Given the description of an element on the screen output the (x, y) to click on. 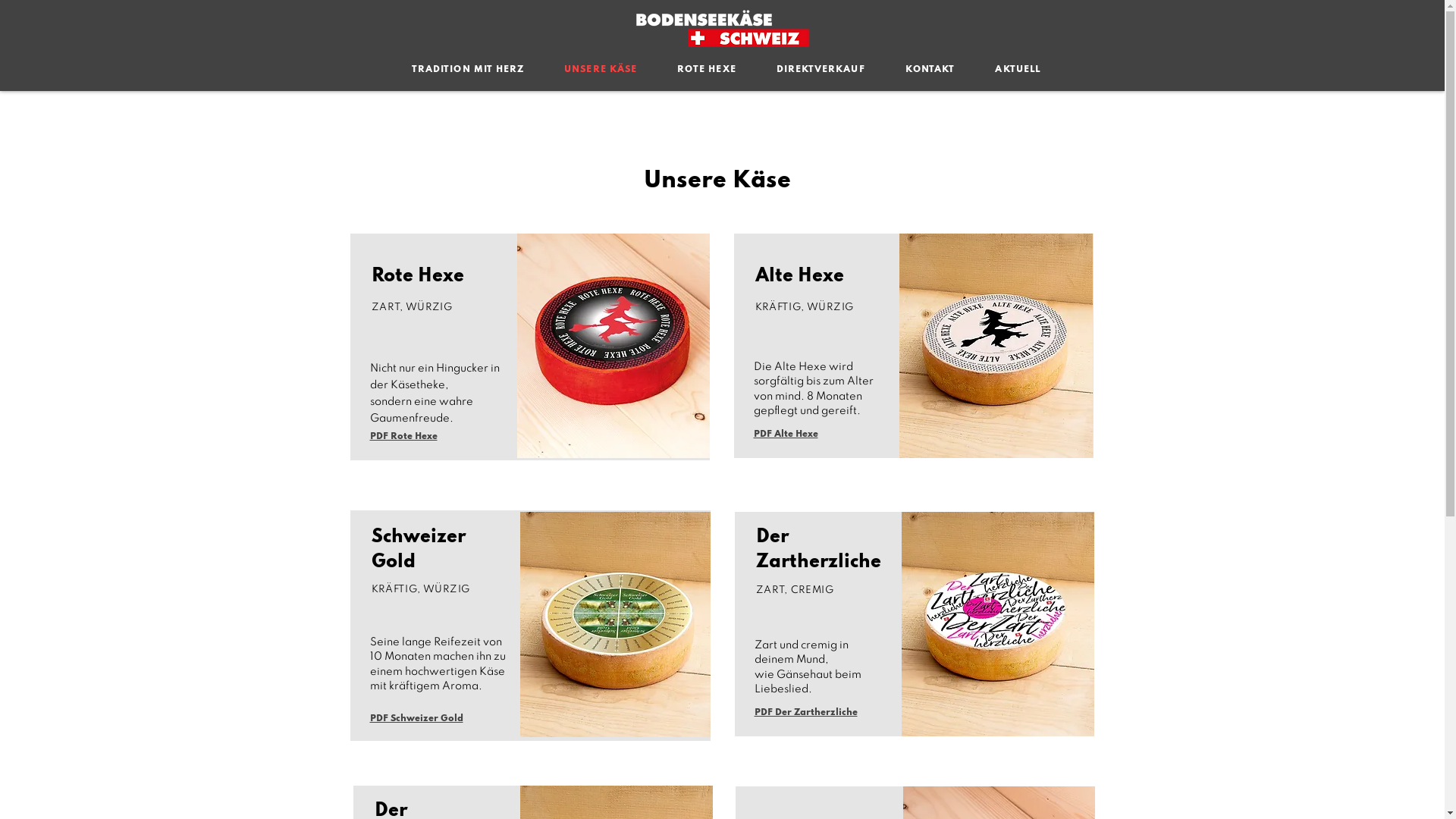
PDF Alte Hexe Element type: text (785, 434)
PDF Schweizer Gold Element type: text (416, 718)
ROTE HEXE Element type: text (706, 69)
KONTAKT Element type: text (930, 69)
PDF Rote Hexe Element type: text (403, 436)
AKTUELL Element type: text (1017, 69)
DIREKTVERKAUF Element type: text (820, 69)
PDF Der Zartherzliche Element type: text (804, 712)
TRADITION MIT HERZ Element type: text (467, 69)
